Given the description of an element on the screen output the (x, y) to click on. 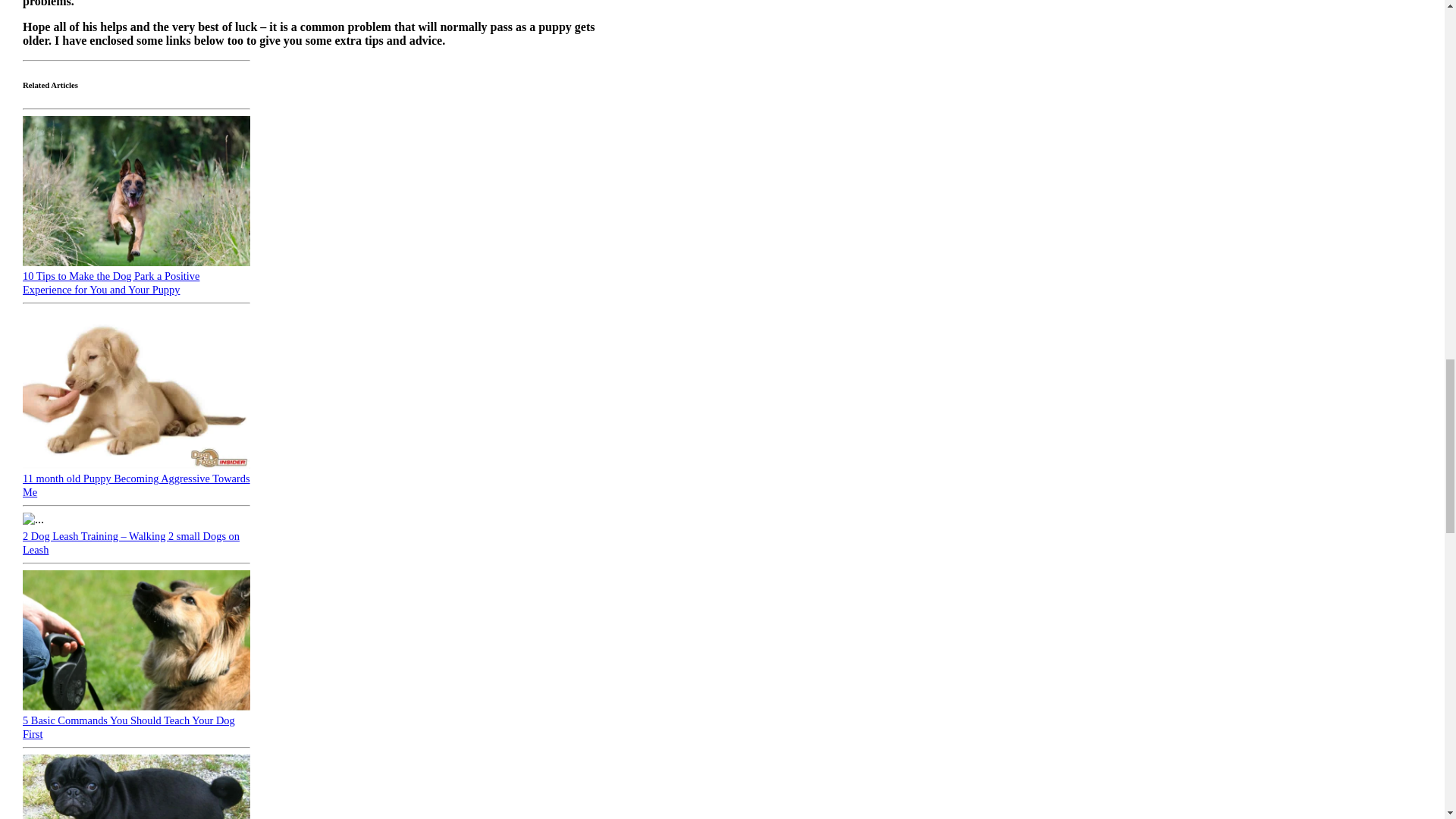
5 Basic Commands You Should Teach Your Dog First (128, 727)
11 month old Puppy Becoming Aggressive Towards Me (136, 484)
